Given the description of an element on the screen output the (x, y) to click on. 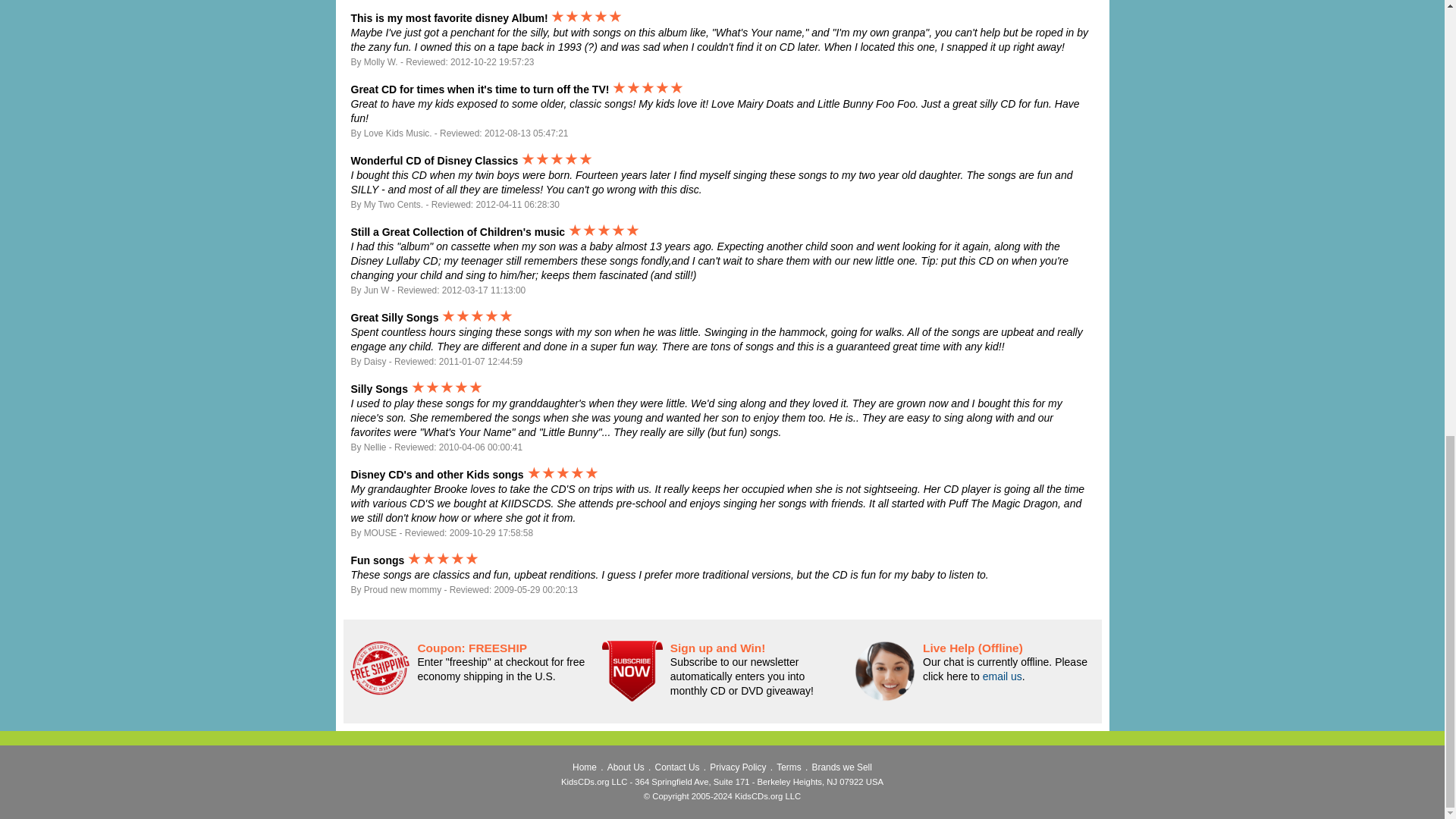
About Us (626, 767)
email us (1002, 676)
Brands we Sell (842, 767)
Terms (788, 767)
Privacy Policy (737, 767)
Home (584, 767)
Contact Us (677, 767)
